Given the description of an element on the screen output the (x, y) to click on. 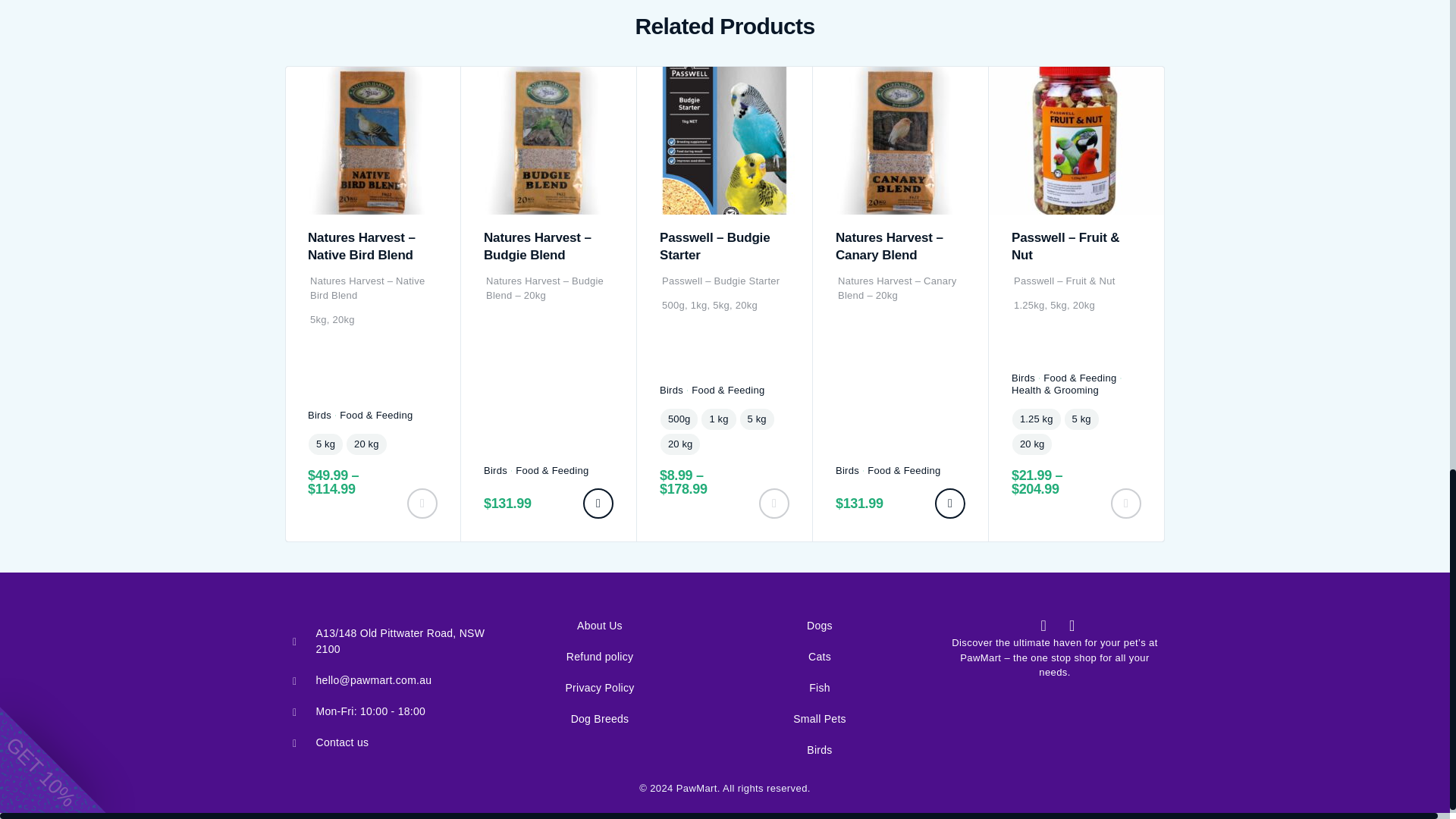
View all posts in Birds (319, 415)
20 kg (365, 444)
5 kg (325, 444)
View all posts in Birds (494, 470)
